Given the description of an element on the screen output the (x, y) to click on. 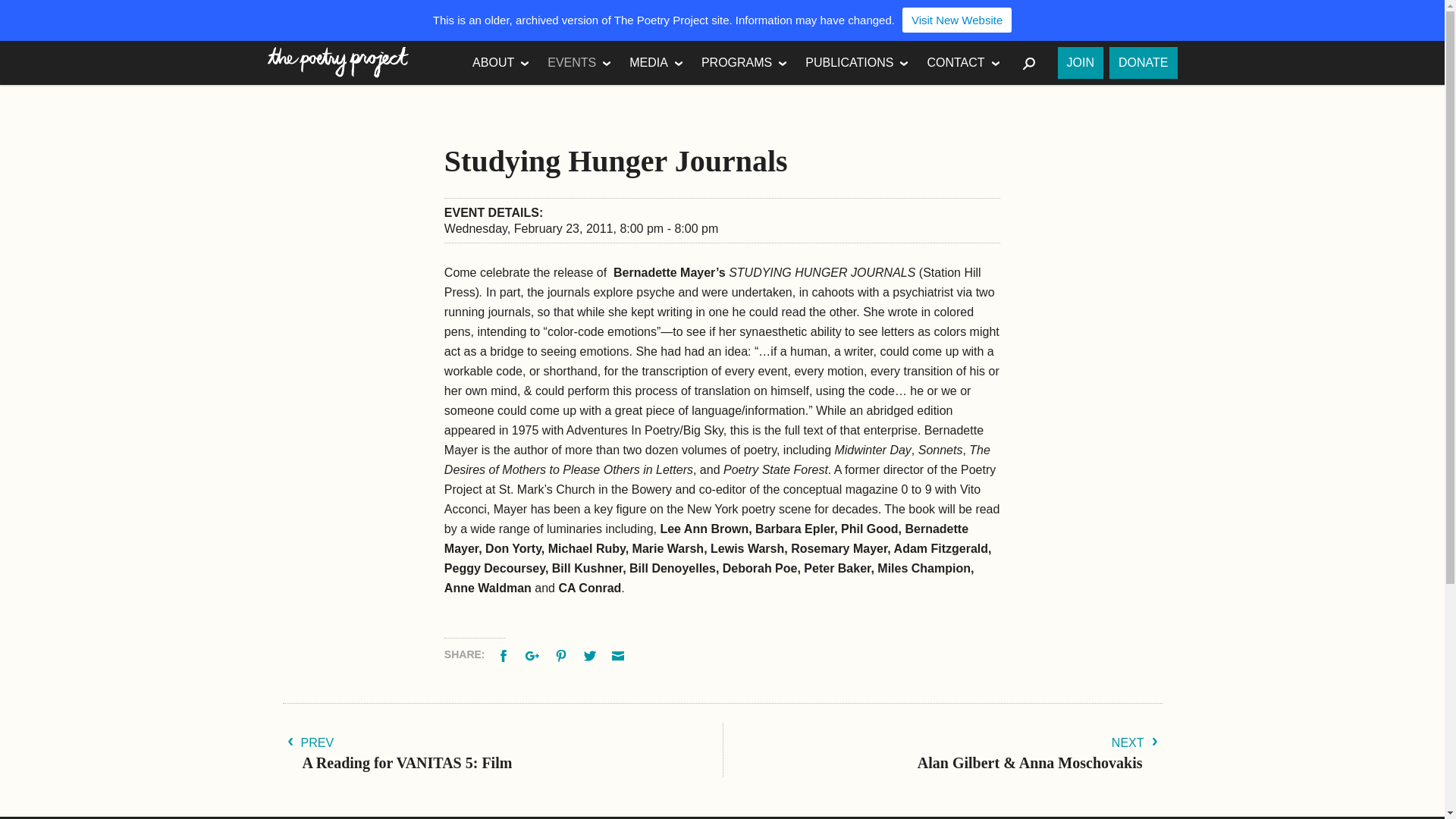
Facebook (504, 654)
Facebook (504, 654)
MEDIA (656, 62)
Email (619, 654)
DONATE (1142, 62)
JOIN (1080, 62)
ABOUT (500, 62)
PROGRAMS (744, 62)
Tweet (590, 654)
CONTACT (963, 62)
